Given the description of an element on the screen output the (x, y) to click on. 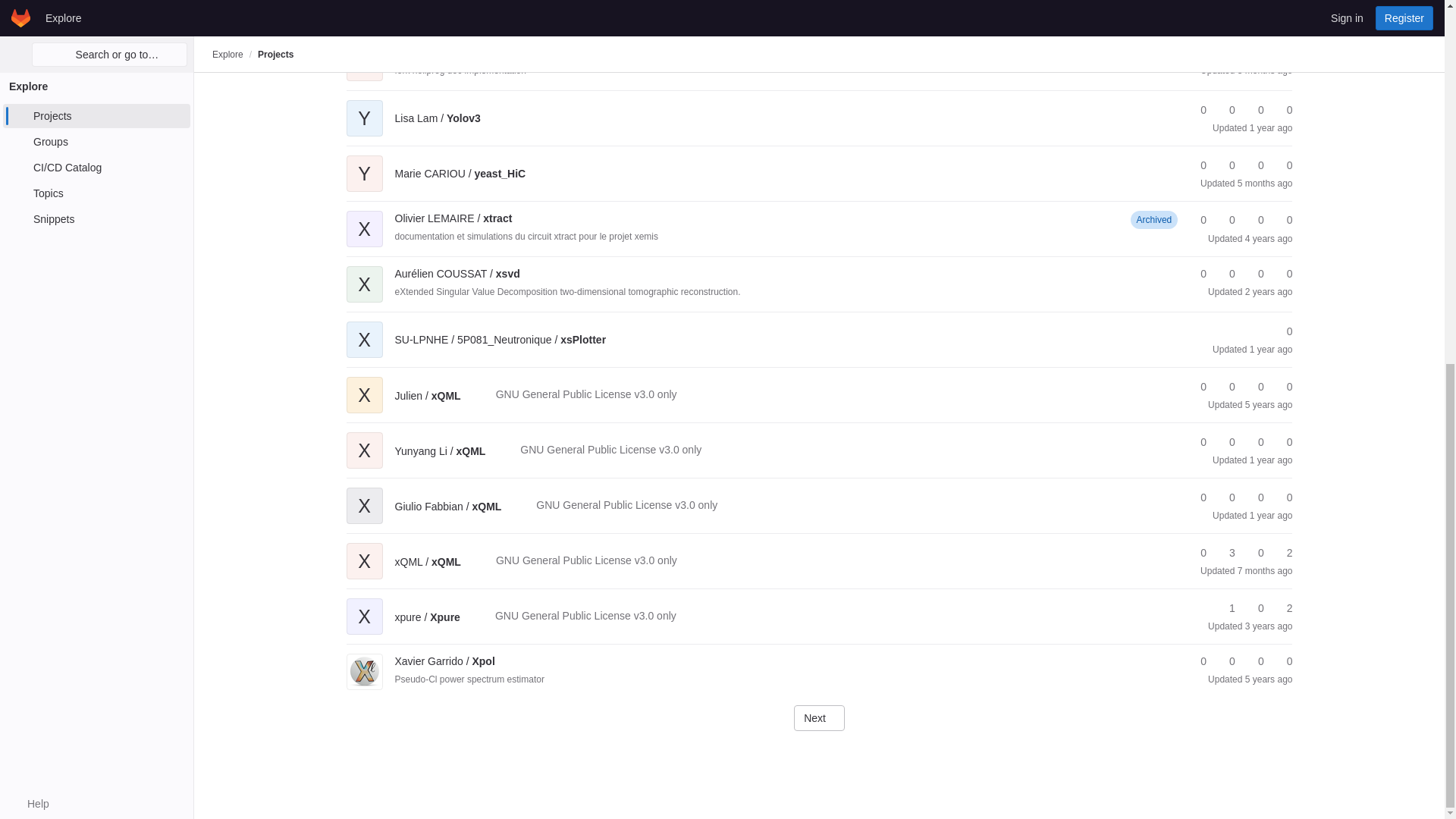
Help (30, 152)
